Given the description of an element on the screen output the (x, y) to click on. 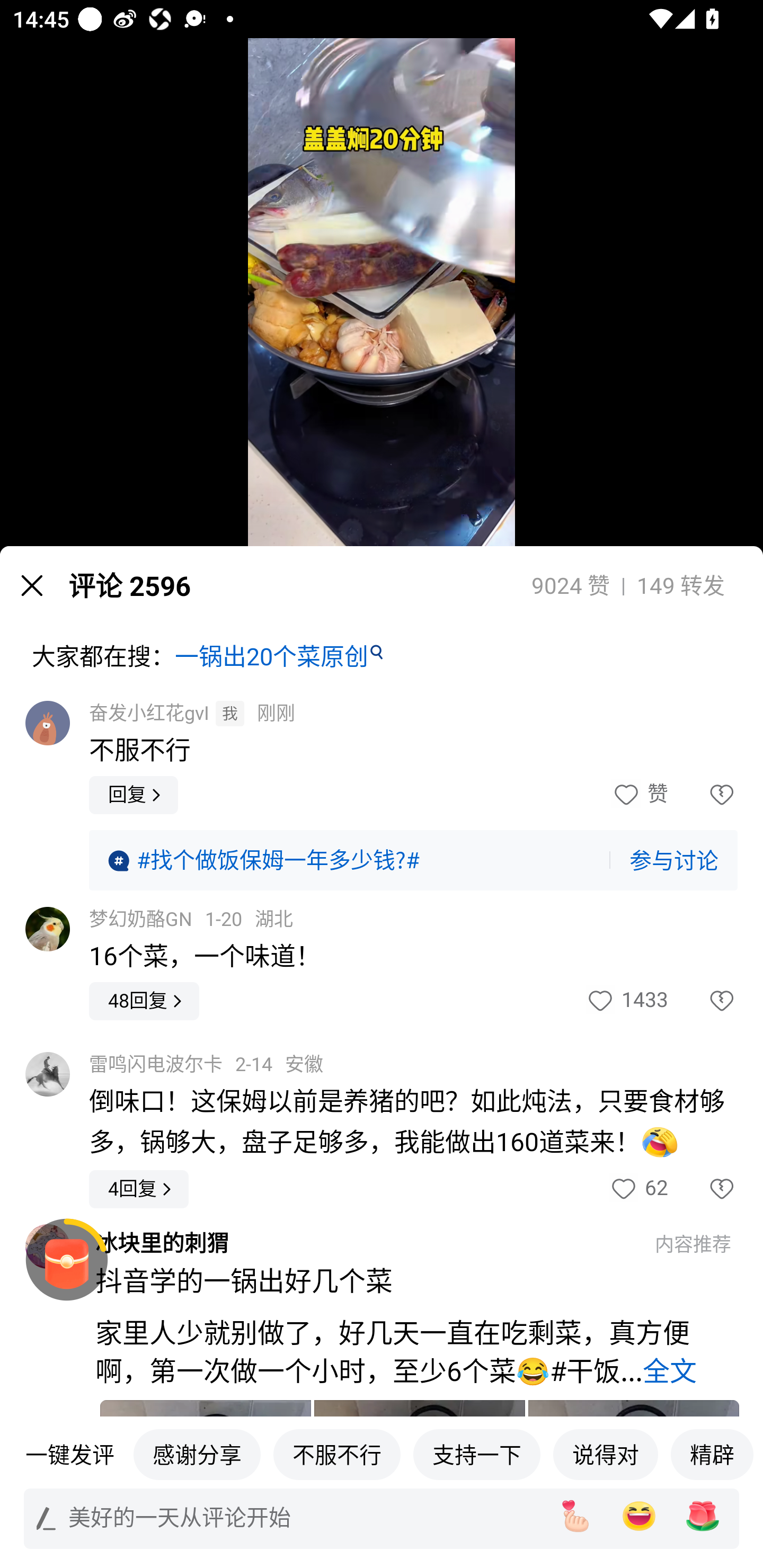
关闭 (31, 584)
奋发小红花gvI 刚刚 (192, 712)
回复 (133, 794)
赞 (638, 794)
踩 (702, 794)
参与讨论,一起参与讨论吧！  #找个做饭保姆一年多少钱?# 参与讨论 (413, 859)
梦幻奶酪GN 1-20 湖北 (190, 919)
48回复 (144, 1000)
赞1433 赞 (625, 1000)
踩 (702, 1000)
雷鸣闪电波尔卡 2-14 安徽 (206, 1064)
4回复 (138, 1188)
赞62 赞 (637, 1188)
踩 (702, 1188)
阅读赚金币 (66, 1259)
感谢分享 (196, 1454)
不服不行 (336, 1454)
支持一下 (476, 1454)
说得对 (605, 1454)
精辟 (711, 1454)
美好的一天从评论开始 [比心] [大笑] [玫瑰] (381, 1518)
[比心] (574, 1516)
[大笑] (638, 1516)
[玫瑰] (702, 1516)
